Given the description of an element on the screen output the (x, y) to click on. 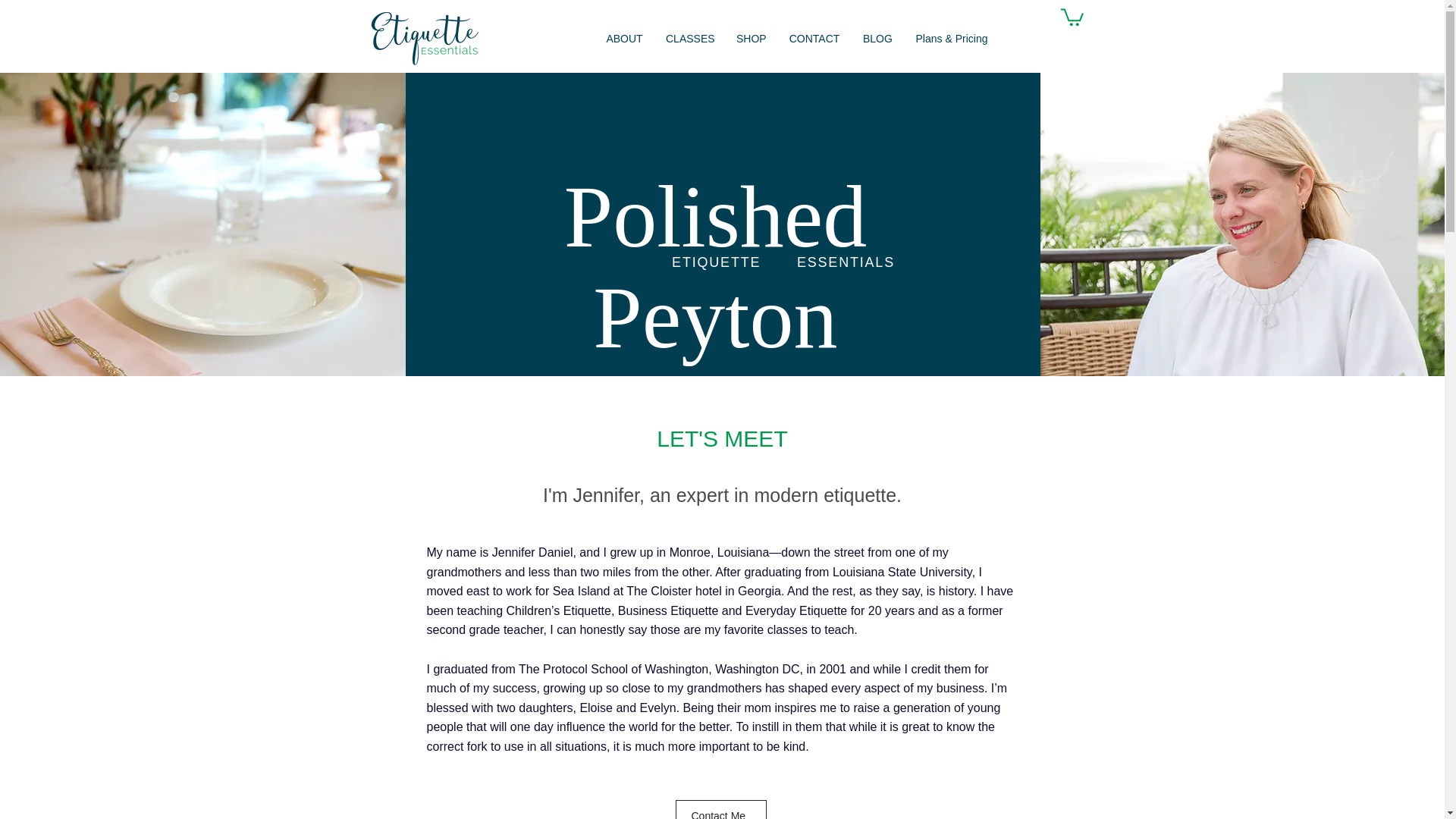
SHOP (751, 38)
BLOG (876, 38)
CONTACT (814, 38)
CLASSES (689, 38)
Contact Me (720, 809)
ABOUT (623, 38)
